Given the description of an element on the screen output the (x, y) to click on. 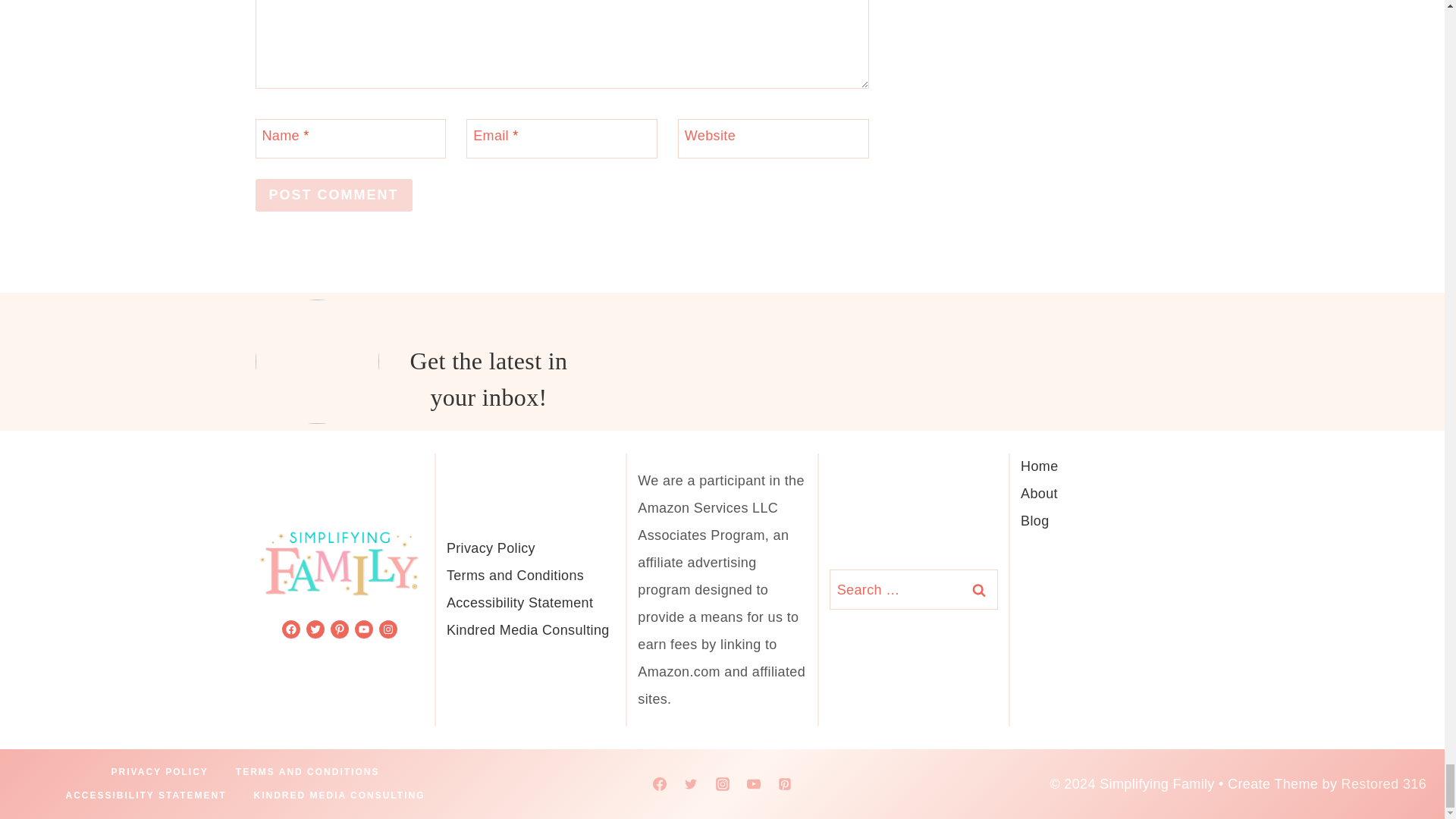
Search (978, 589)
Post Comment (333, 195)
Search (978, 589)
